Given the description of an element on the screen output the (x, y) to click on. 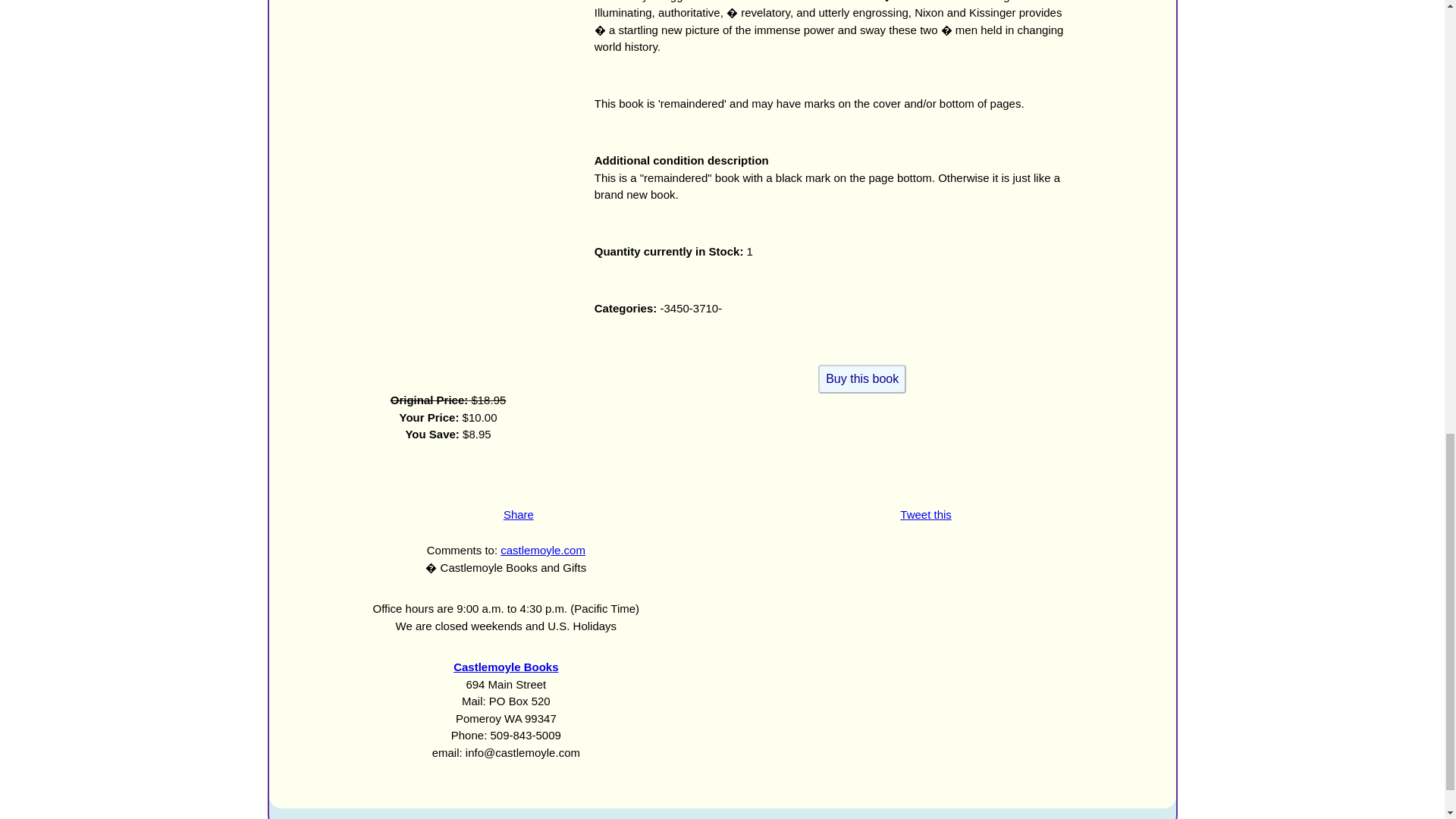
Castlemoyle Books (504, 666)
Buy this book (861, 378)
Share (518, 513)
Link to Castlemoyle Books home page (504, 666)
castlemoyle.com (542, 549)
